Given the description of an element on the screen output the (x, y) to click on. 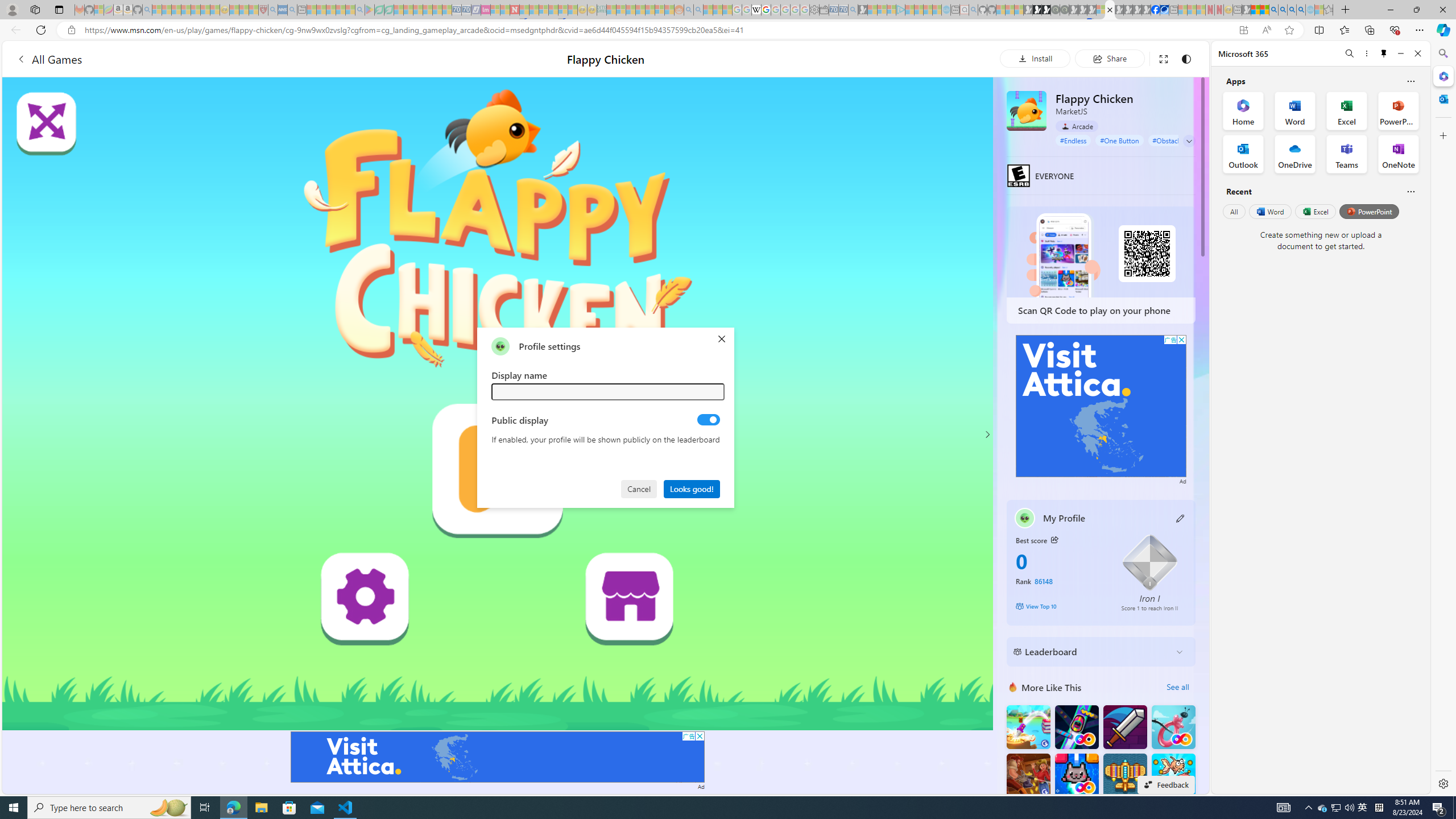
Play Zoo Boom in your browser | Games from Microsoft Start (1036, 9)
Tab actions menu (58, 9)
Kinda Frugal - MSN - Sleeping (649, 9)
NCL Adult Asthma Inhaler Choice Guideline - Sleeping (282, 9)
Latest Politics News & Archive | Newsweek.com - Sleeping (514, 9)
Microsoft account | Privacy - Sleeping (891, 9)
Jobs - lastminute.com Investor Portal - Sleeping (485, 9)
Feedback (1166, 784)
